Given the description of an element on the screen output the (x, y) to click on. 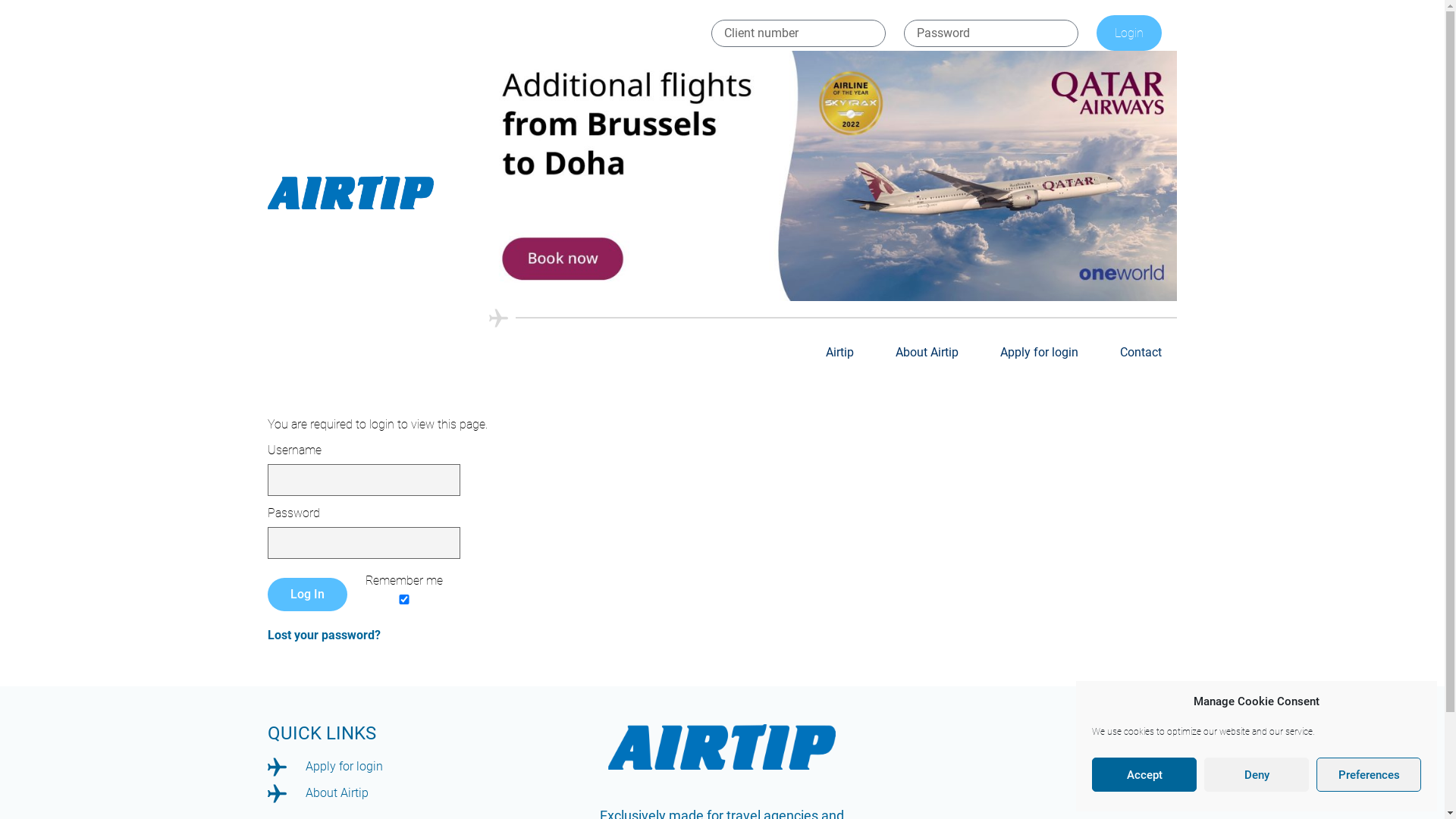
Airtip Element type: text (839, 352)
Deny Element type: text (1256, 774)
About Airtip Element type: text (926, 352)
Log In Element type: text (306, 594)
Apply for login Element type: text (1039, 352)
Apply for login Element type: text (418, 766)
Lost your password? Element type: text (322, 634)
Accept Element type: text (1144, 774)
About Airtip Element type: text (418, 793)
Contact Element type: text (1140, 352)
Login Element type: text (1128, 32)
Preferences Element type: text (1368, 774)
